Given the description of an element on the screen output the (x, y) to click on. 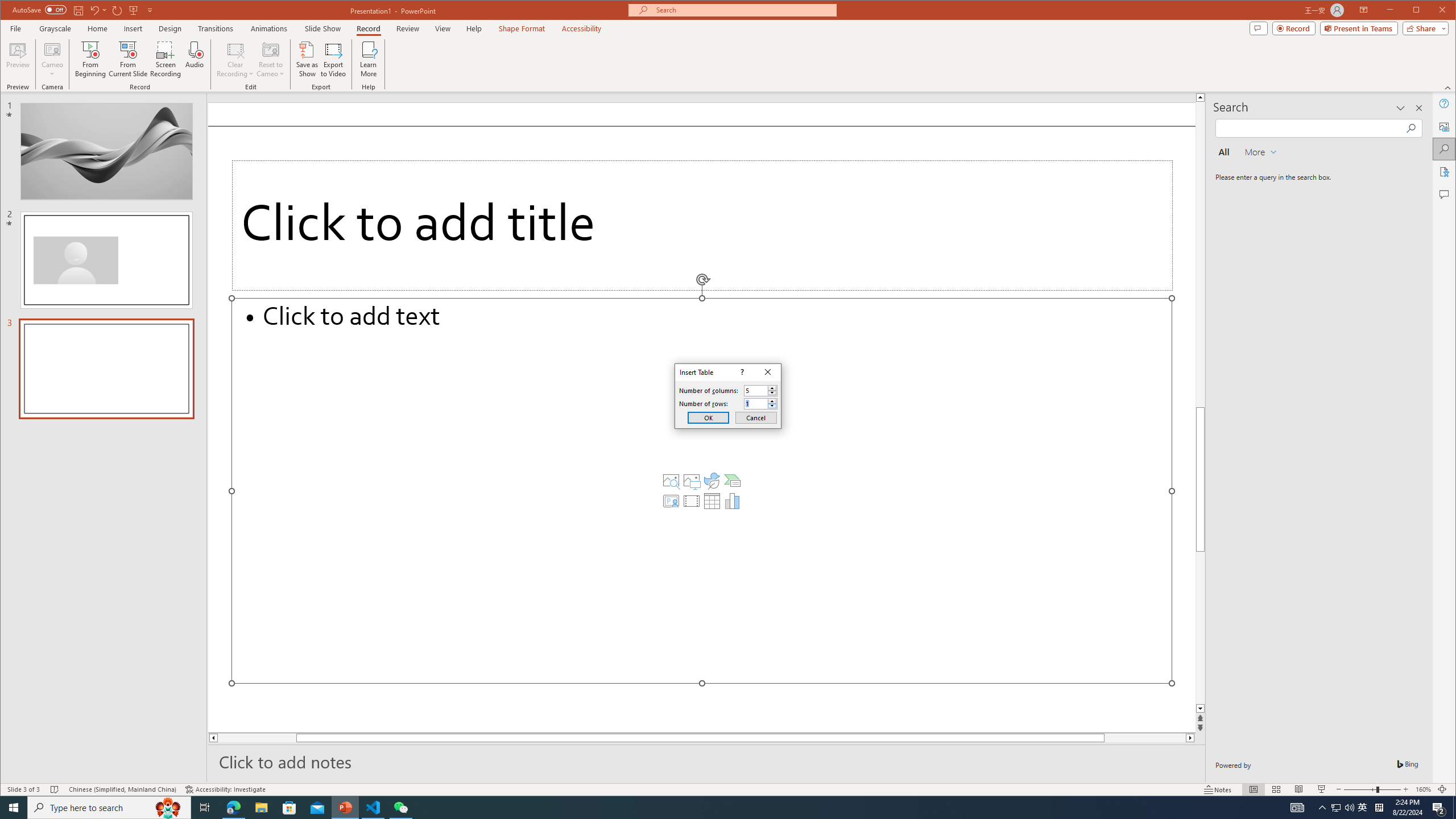
Number of rows (760, 403)
